Given the description of an element on the screen output the (x, y) to click on. 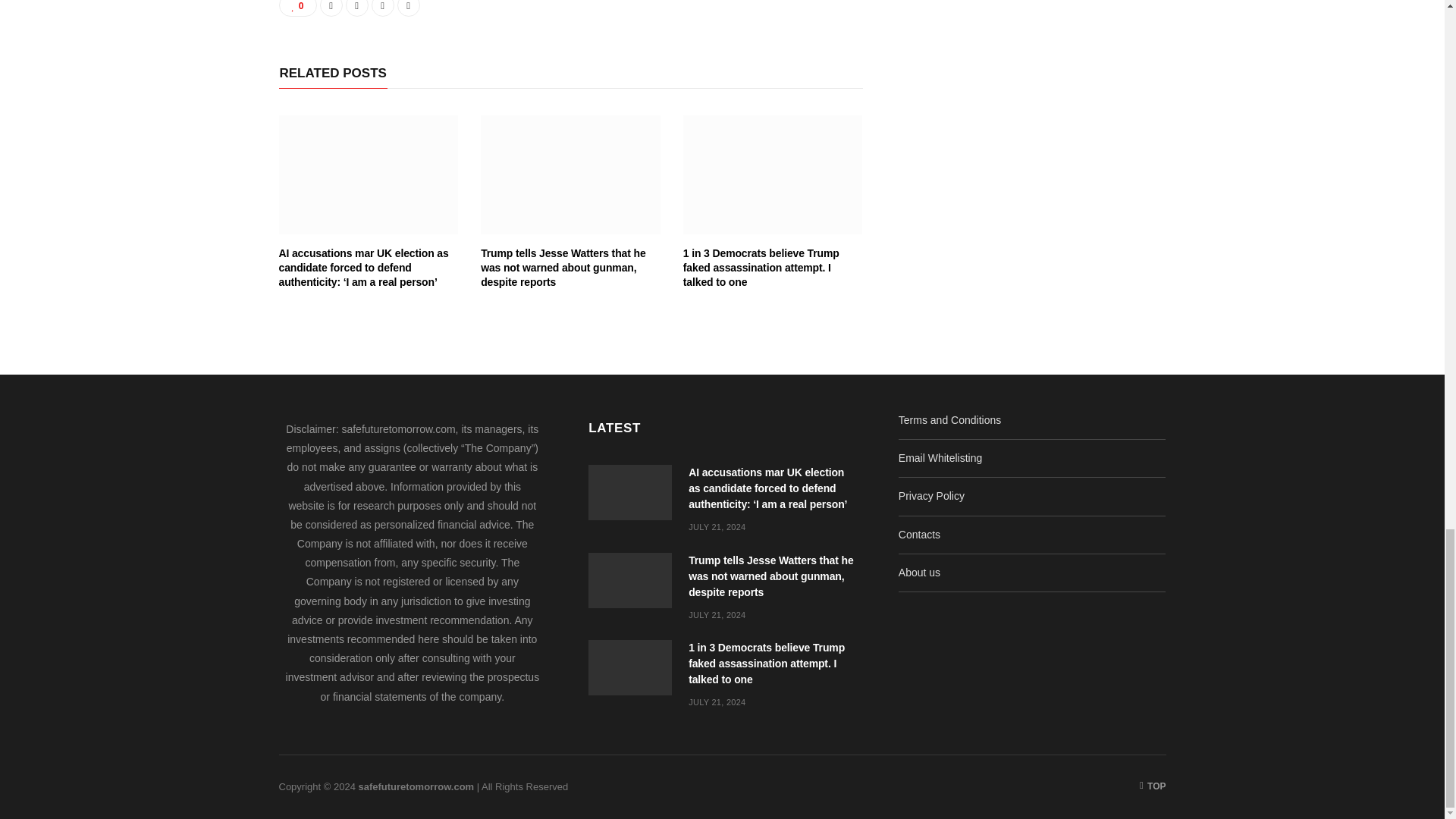
0 (298, 8)
